Given the description of an element on the screen output the (x, y) to click on. 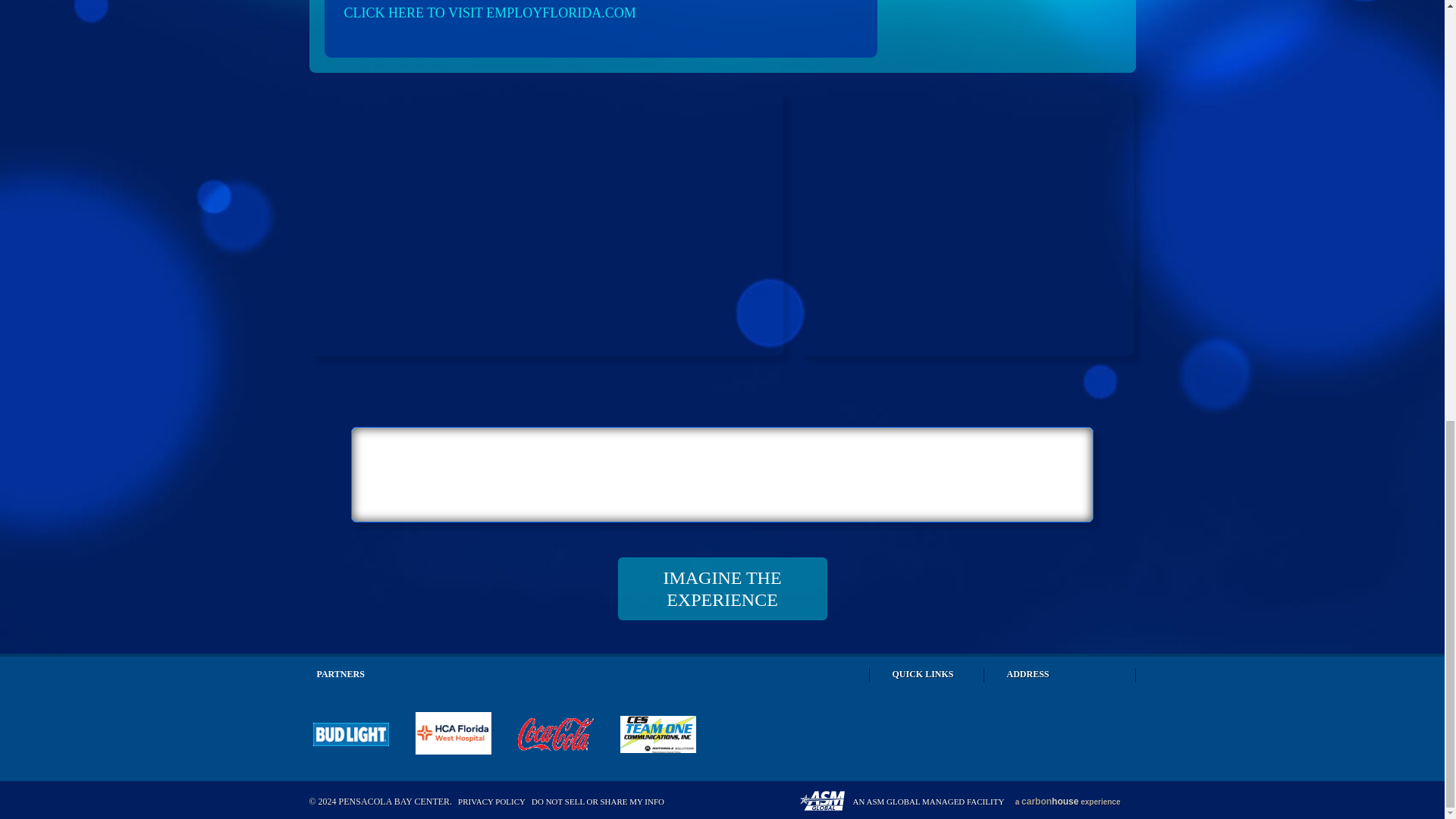
a carbonhouse experience (1067, 802)
Privacy Policy (491, 801)
An ASM Global Managed Facility (904, 802)
CESLogo web bottom banner.png (657, 733)
Do Not Sell or Share My Info (597, 801)
Website-logo.gif (554, 733)
BL bottom banner website.jpg (350, 733)
